Given the description of an element on the screen output the (x, y) to click on. 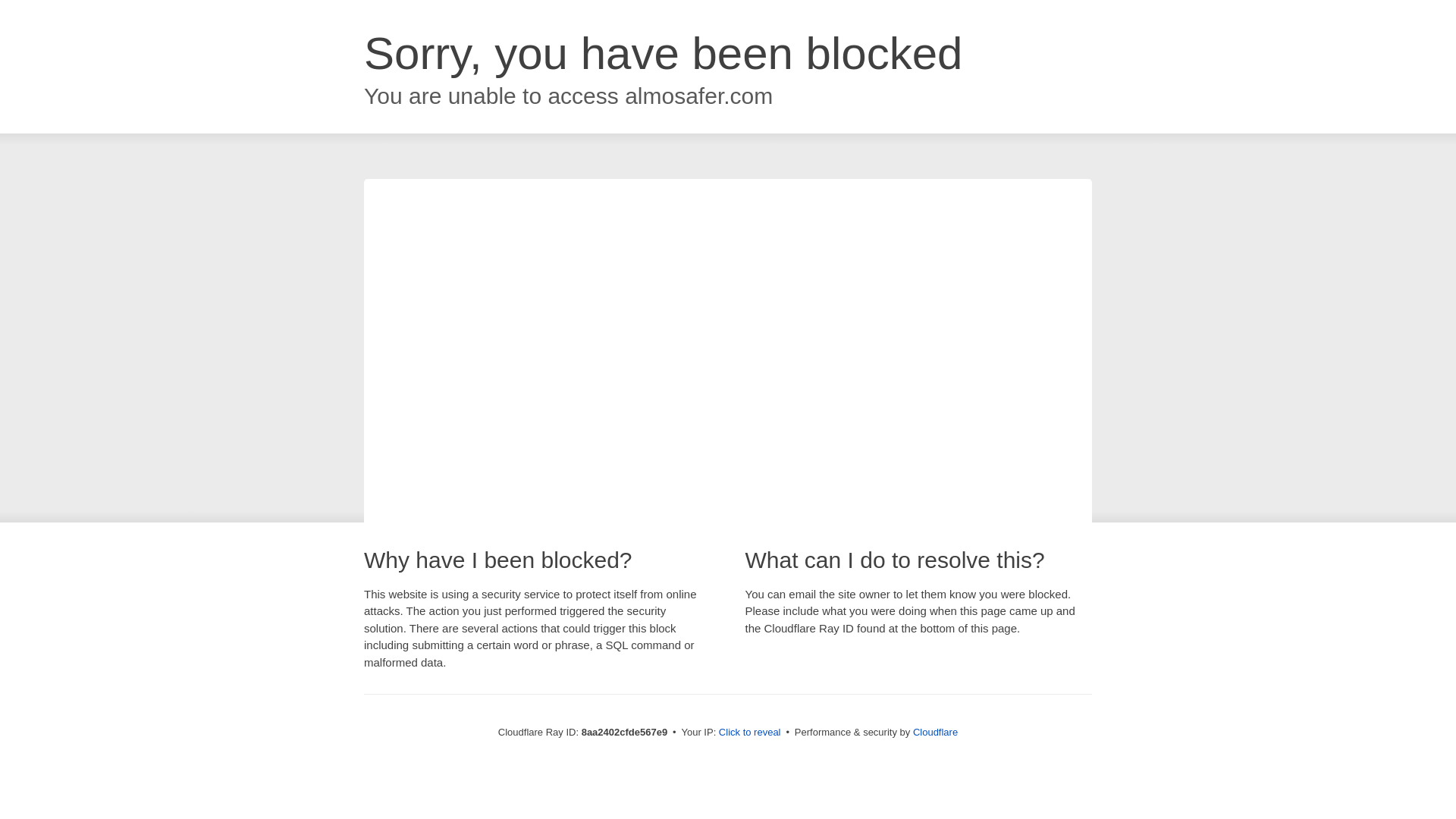
Click to reveal (749, 732)
Cloudflare (935, 731)
